Given the description of an element on the screen output the (x, y) to click on. 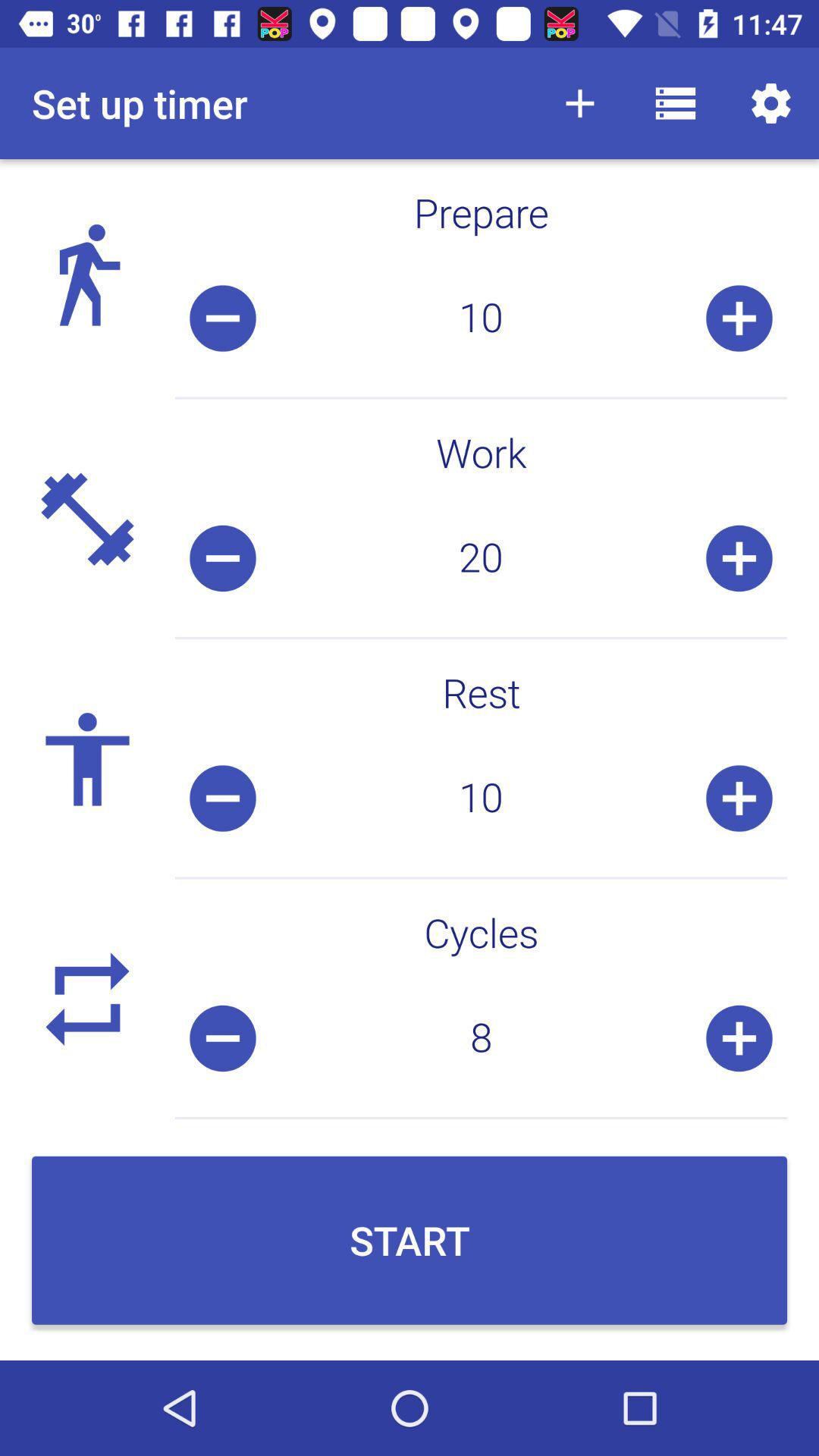
jump until 20 icon (480, 558)
